Given the description of an element on the screen output the (x, y) to click on. 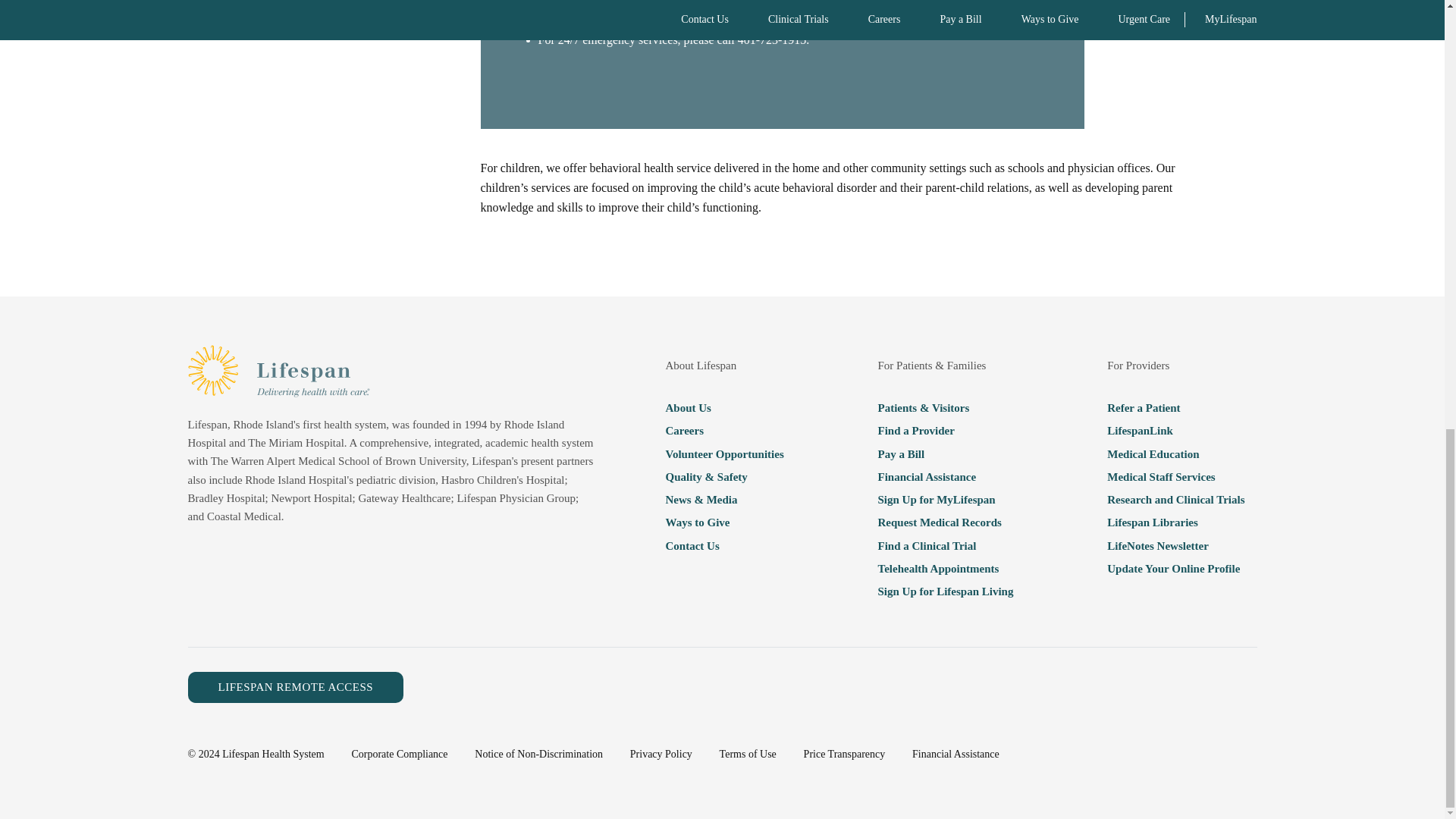
How to refer a patient to a Lifespan service or provider (1175, 407)
Medical staff services at Lifespan hospitals (1175, 476)
Sign up or access the MyLifespan online patient portal (945, 499)
Sign up for the Lifespan Living e-newsletter (945, 591)
Ways to give to Lifespan hospitals (724, 522)
Find a Lifespan provider (945, 430)
How to request medical records (945, 522)
Information about financial assistance (945, 476)
